Given the description of an element on the screen output the (x, y) to click on. 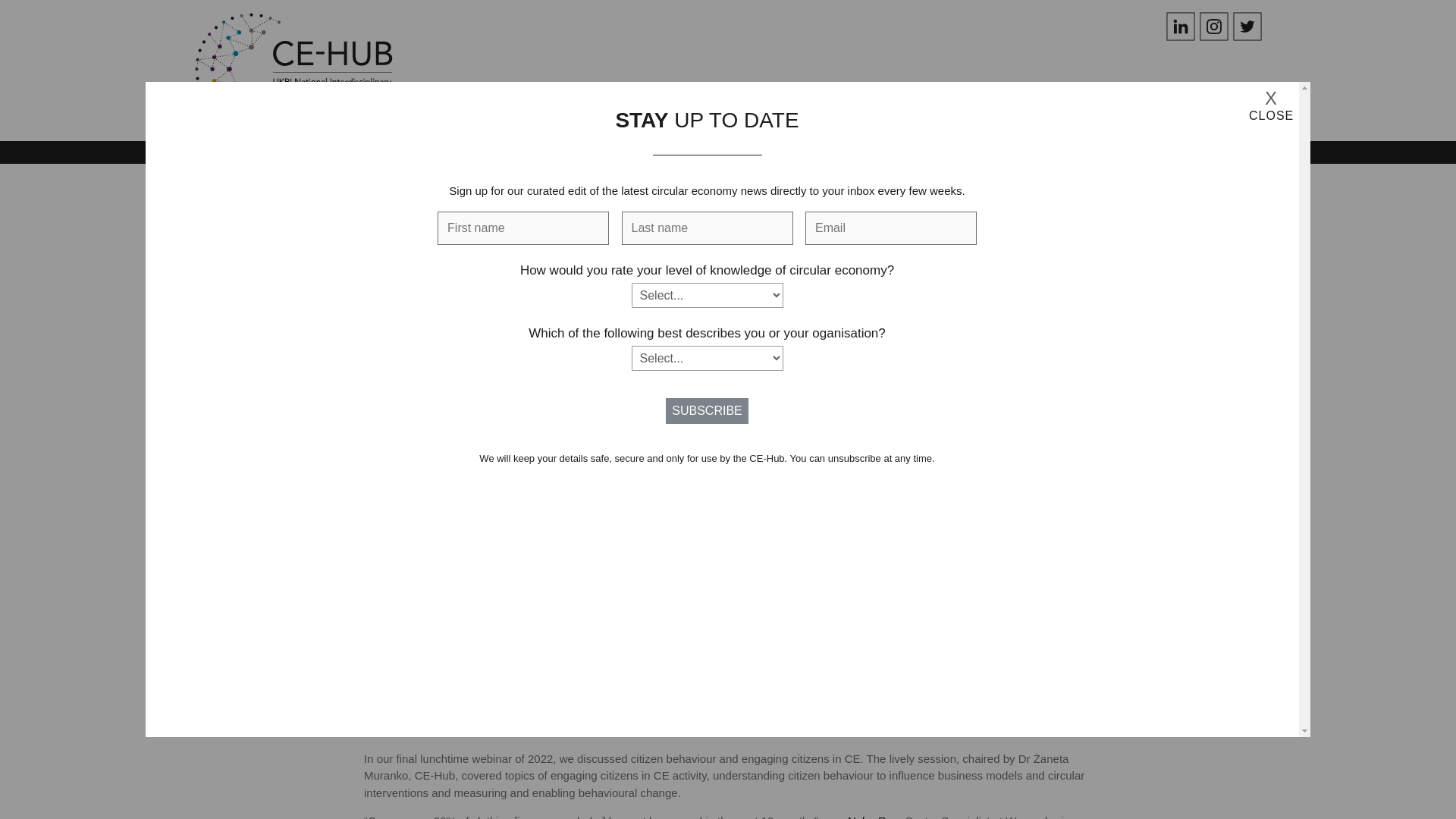
EVENTS (1092, 100)
WHAT IS THE CE? (615, 100)
KNOWLEDGE HUB (1197, 100)
OUR CENTRES (736, 100)
LATEST NEWS (1001, 100)
